Given the description of an element on the screen output the (x, y) to click on. 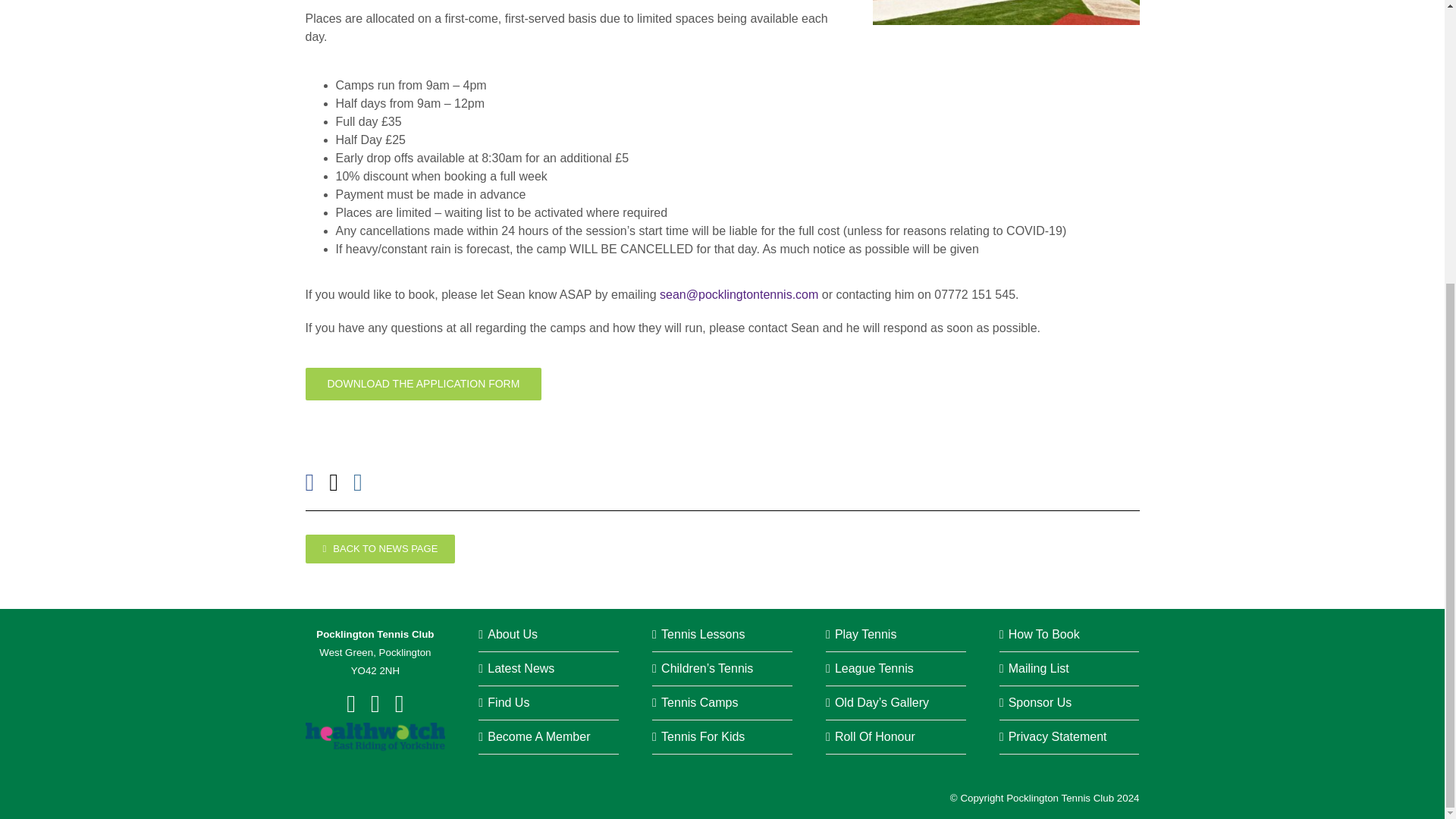
Tennis Lessons (702, 634)
About Us (512, 634)
DOWNLOAD THE APPLICATION FORM (422, 383)
Latest News (520, 667)
Find Us (508, 702)
Become A Member (538, 736)
BACK TO NEWS PAGE (379, 548)
